Given the description of an element on the screen output the (x, y) to click on. 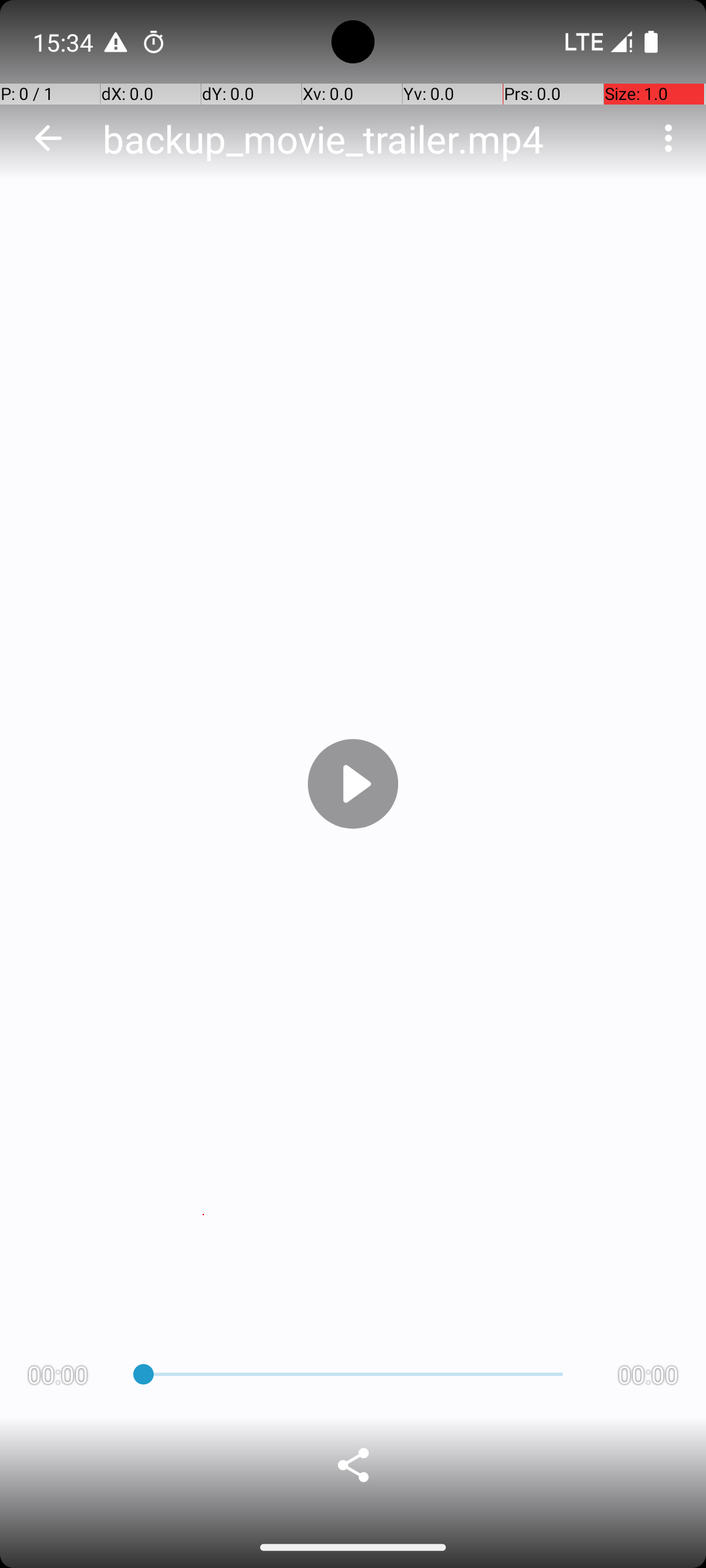
backup_movie_trailer.mp4 Element type: android.widget.TextView (322, 138)
00:00 Element type: android.widget.TextView (57, 1374)
